Given the description of an element on the screen output the (x, y) to click on. 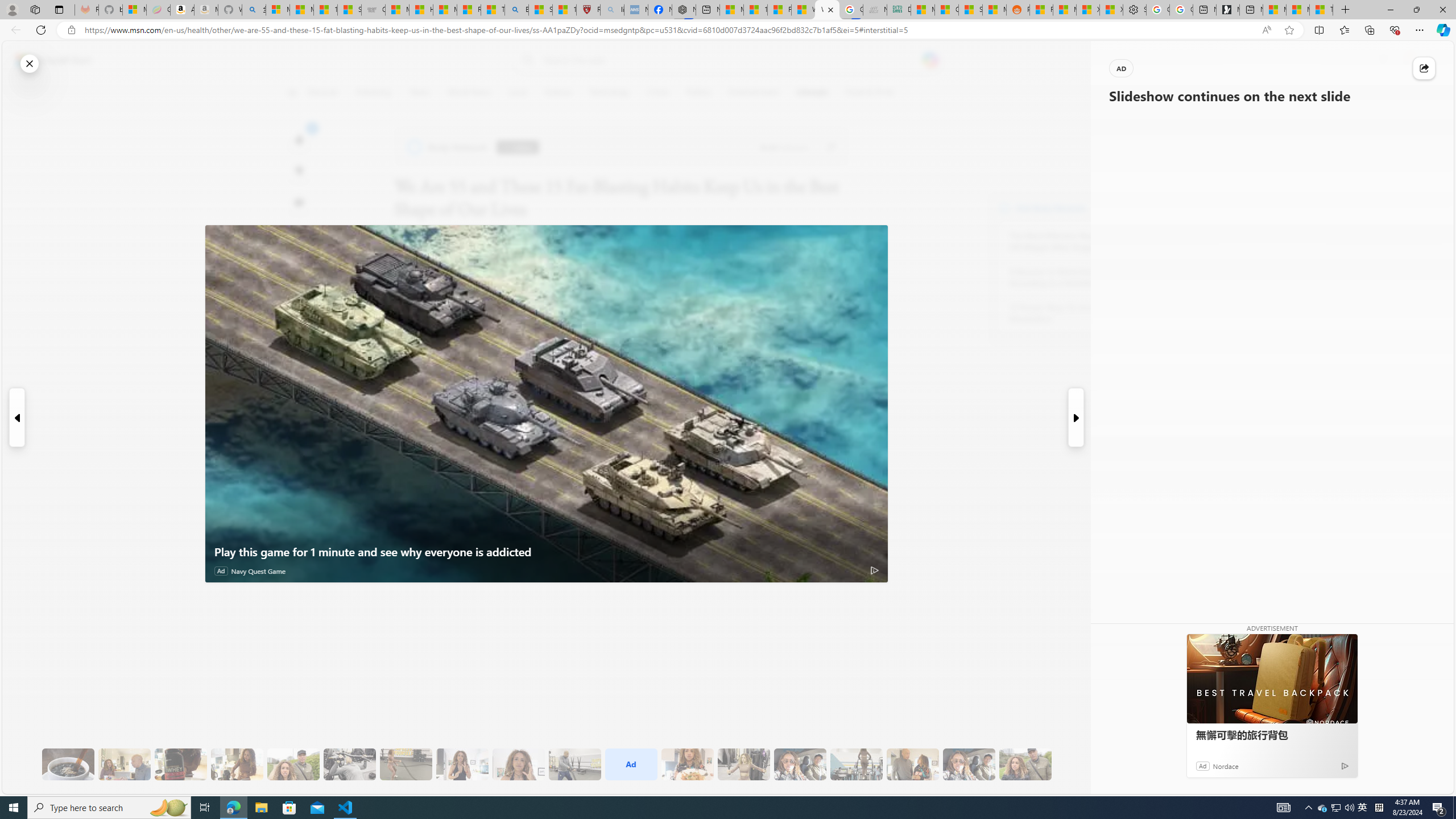
5 She Eats Less Than Her Husband (124, 764)
14 They Have Salmon and Veggies for Dinner (687, 764)
9 They Do Bench Exercises (349, 764)
11 They Eat More Protein for Breakfast (462, 764)
13 Her Husband Does Group Cardio Classs (574, 764)
Class: at-item immersive (1423, 68)
